Given the description of an element on the screen output the (x, y) to click on. 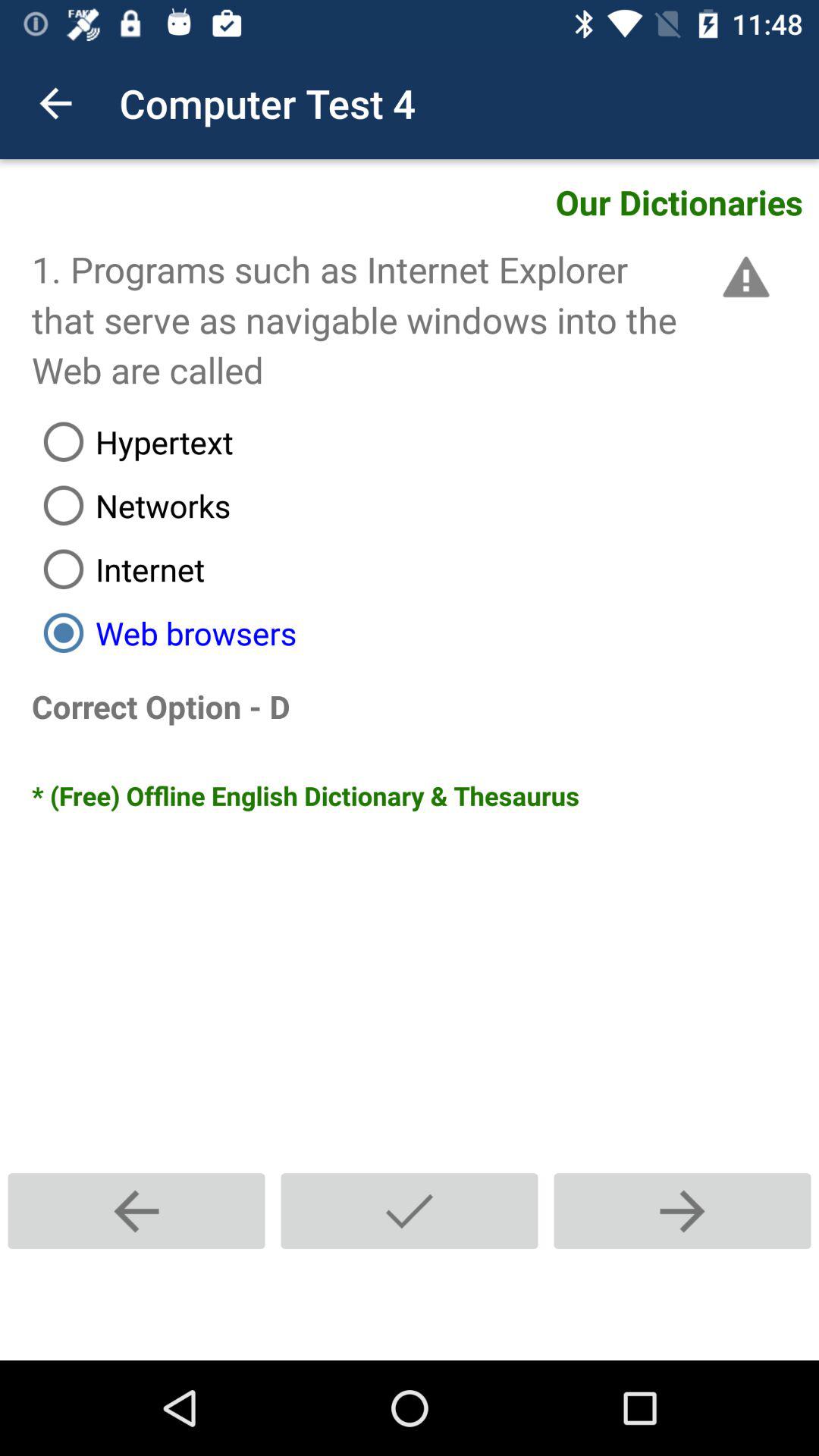
choose the item below the free offline english item (409, 1210)
